Given the description of an element on the screen output the (x, y) to click on. 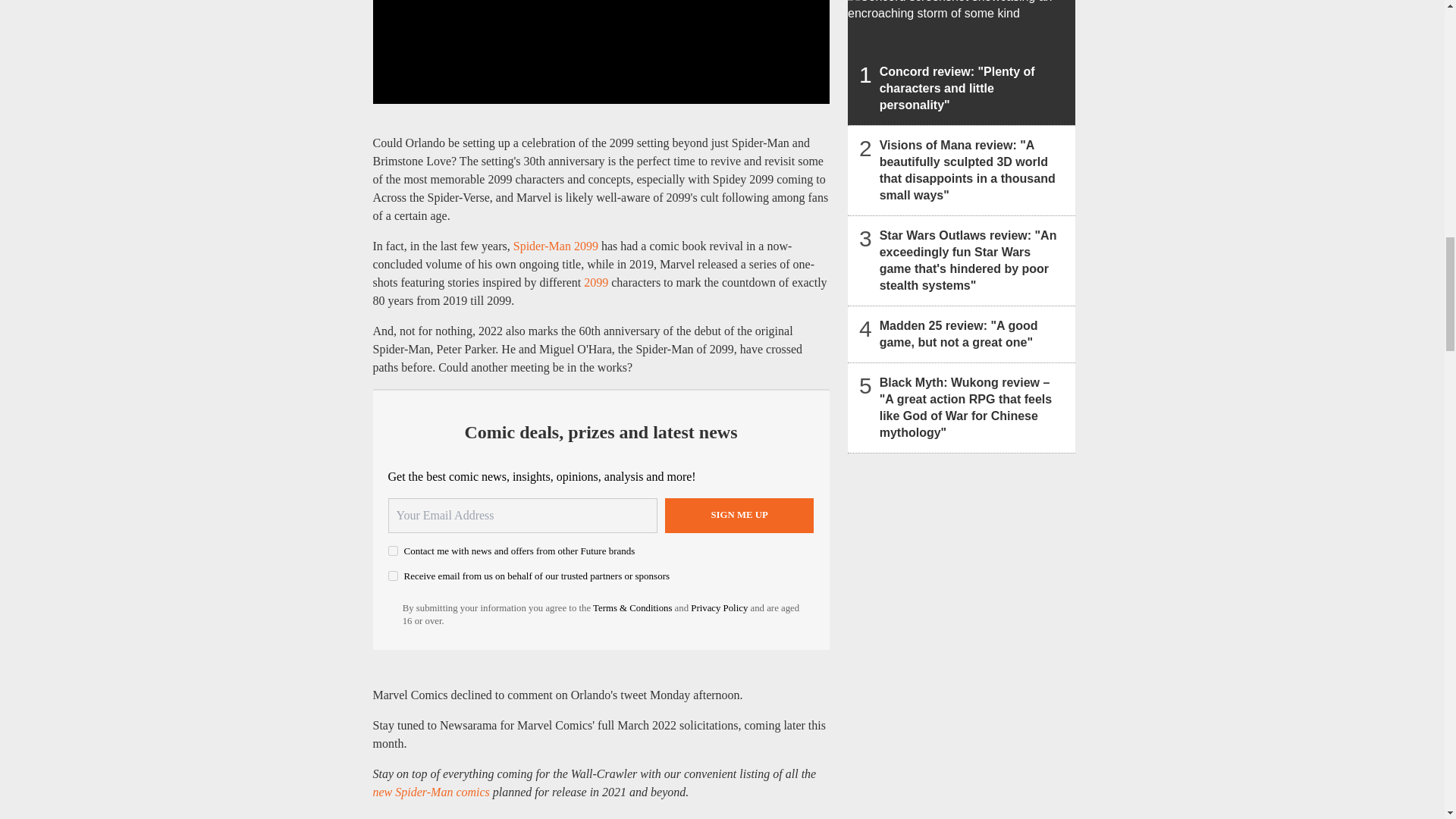
on (392, 575)
on (392, 551)
Sign me up (739, 515)
